Given the description of an element on the screen output the (x, y) to click on. 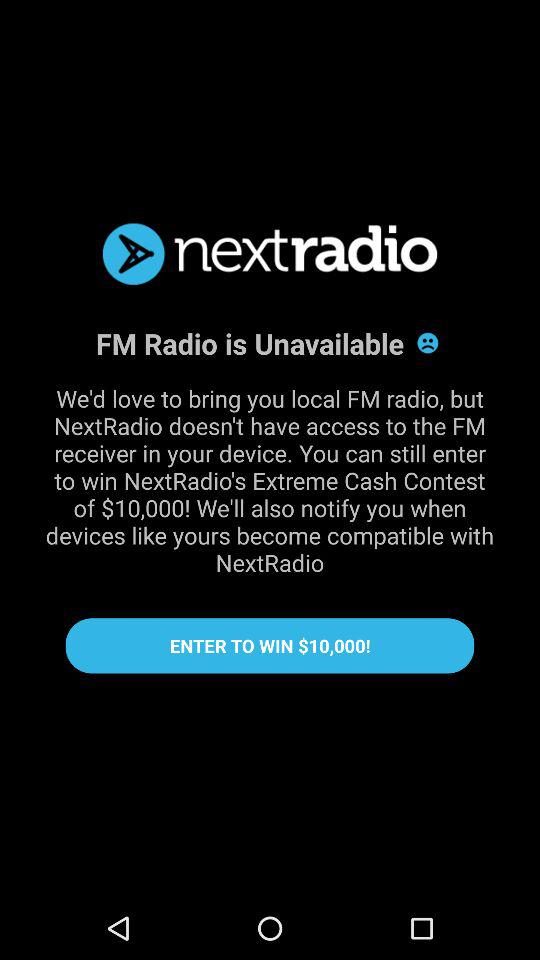
open icon above the fm radio is (269, 253)
